Given the description of an element on the screen output the (x, y) to click on. 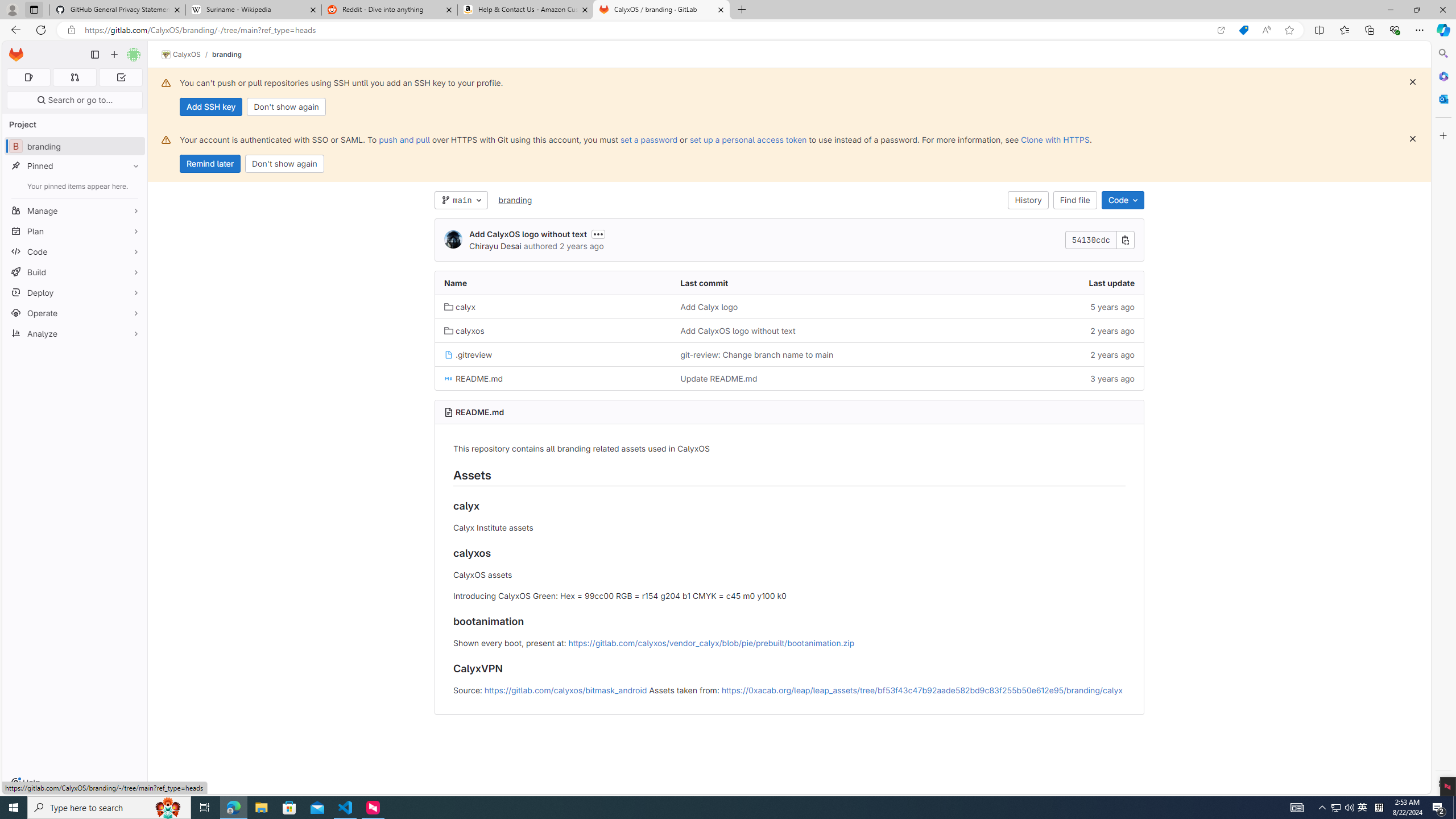
Find file (1074, 199)
Build (74, 271)
Last update (1025, 282)
Operate (74, 312)
README.md (478, 411)
Chirayu Desai's avatar (453, 239)
Assigned issues 0 (28, 76)
branding (514, 199)
push and pull (403, 139)
Update README.md (789, 377)
Primary navigation sidebar (94, 54)
